Given the description of an element on the screen output the (x, y) to click on. 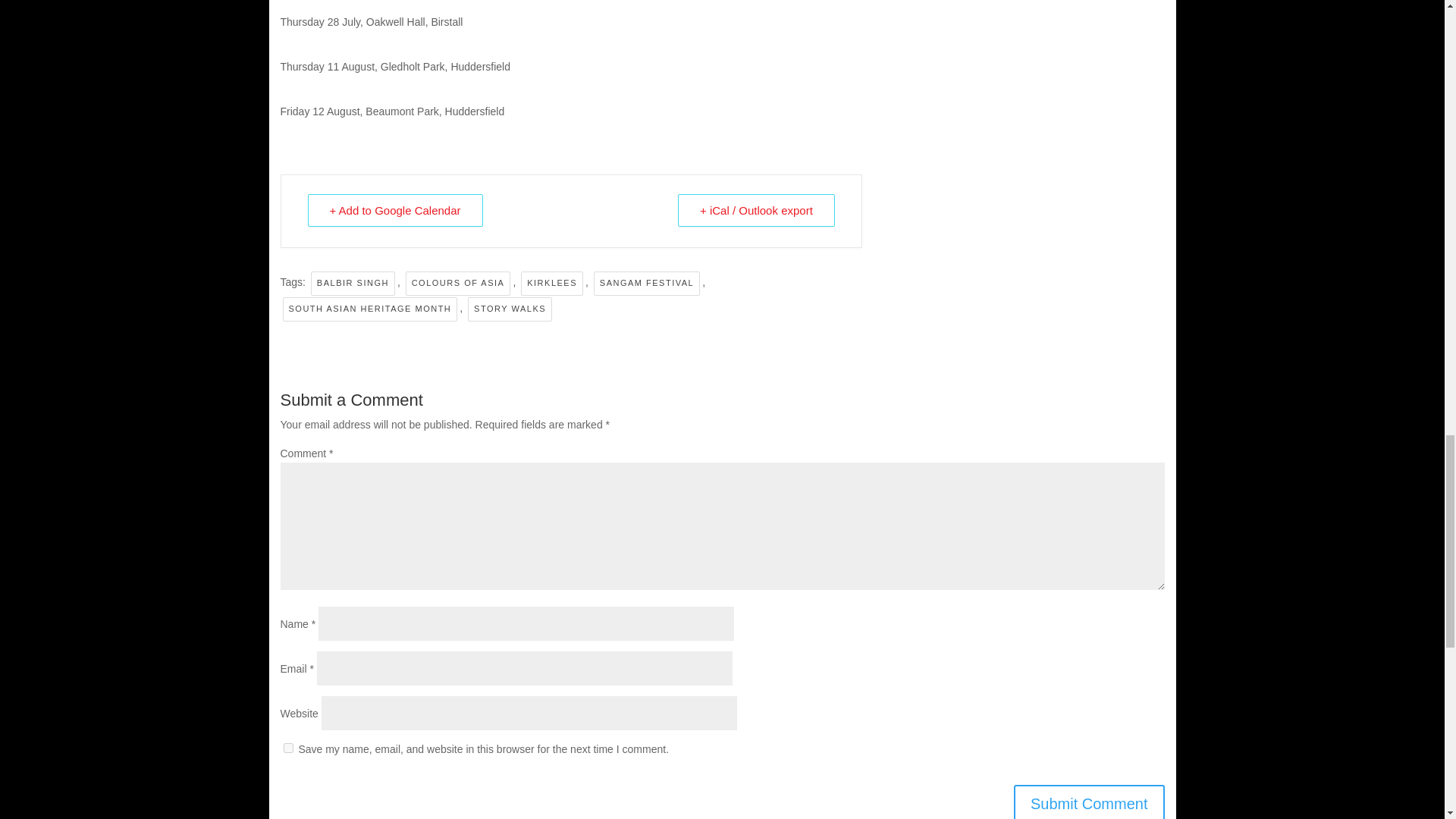
KIRKLEES (552, 283)
SANGAM FESTIVAL (647, 283)
Submit Comment (1088, 801)
yes (288, 747)
BALBIR SINGH (352, 283)
SOUTH ASIAN HERITAGE MONTH (369, 309)
COLOURS OF ASIA (458, 283)
STORY WALKS (509, 309)
Submit Comment (1088, 801)
